Given the description of an element on the screen output the (x, y) to click on. 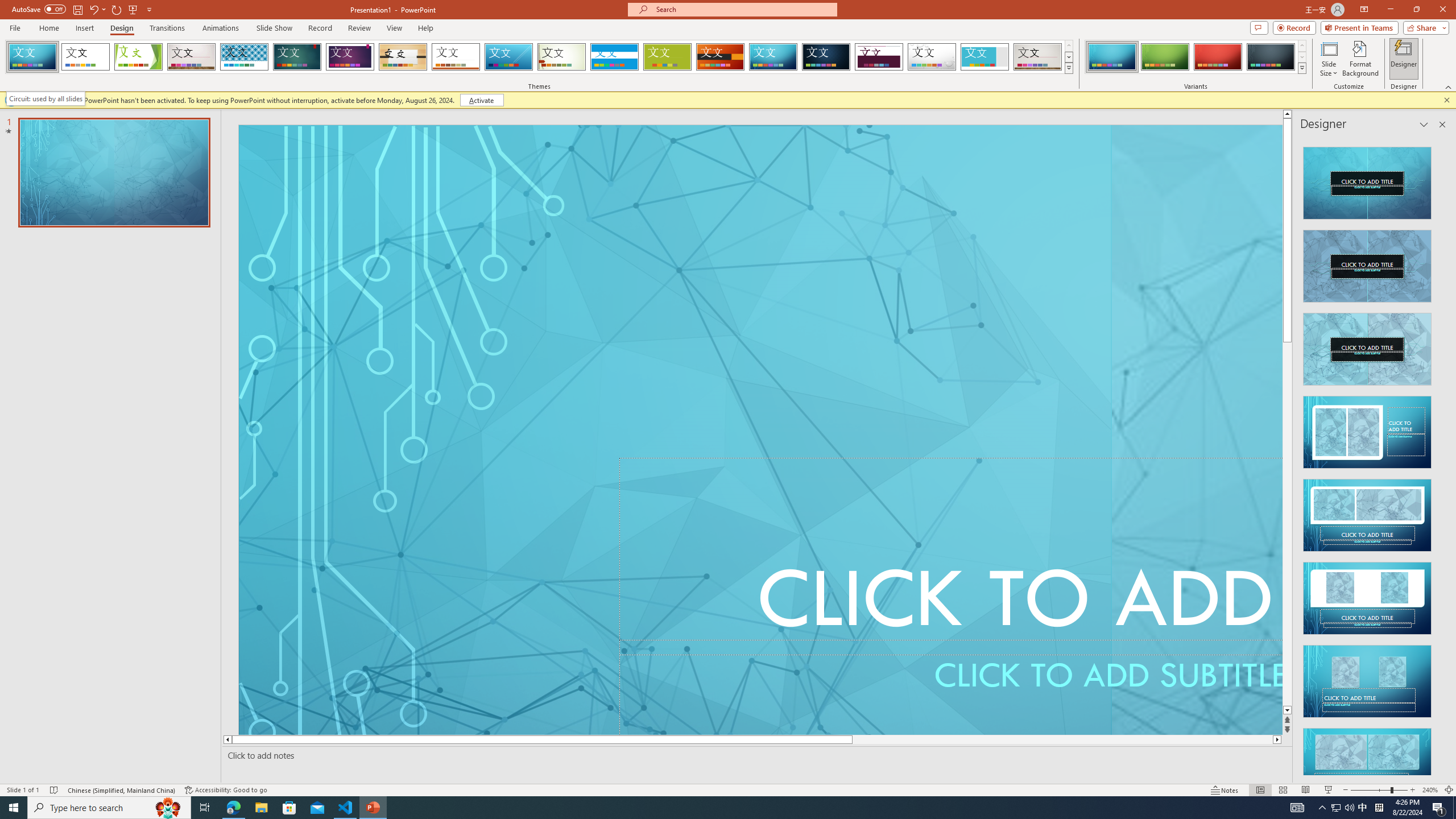
An abstract genetic concept (1197, 429)
Integral (244, 56)
Circuit Variant 2 (1164, 56)
Basis (667, 56)
